Given the description of an element on the screen output the (x, y) to click on. 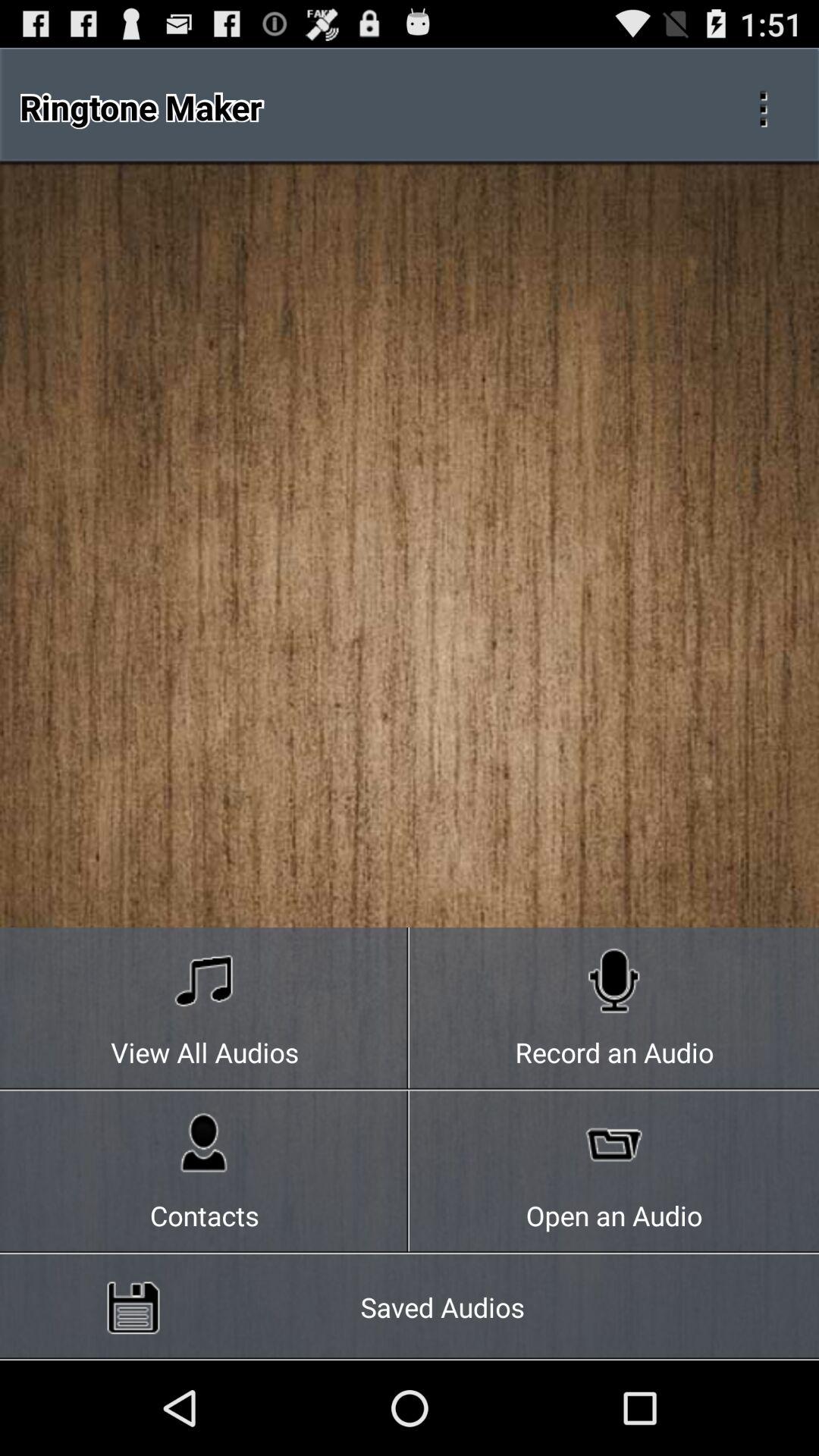
flip until contacts (204, 1172)
